Given the description of an element on the screen output the (x, y) to click on. 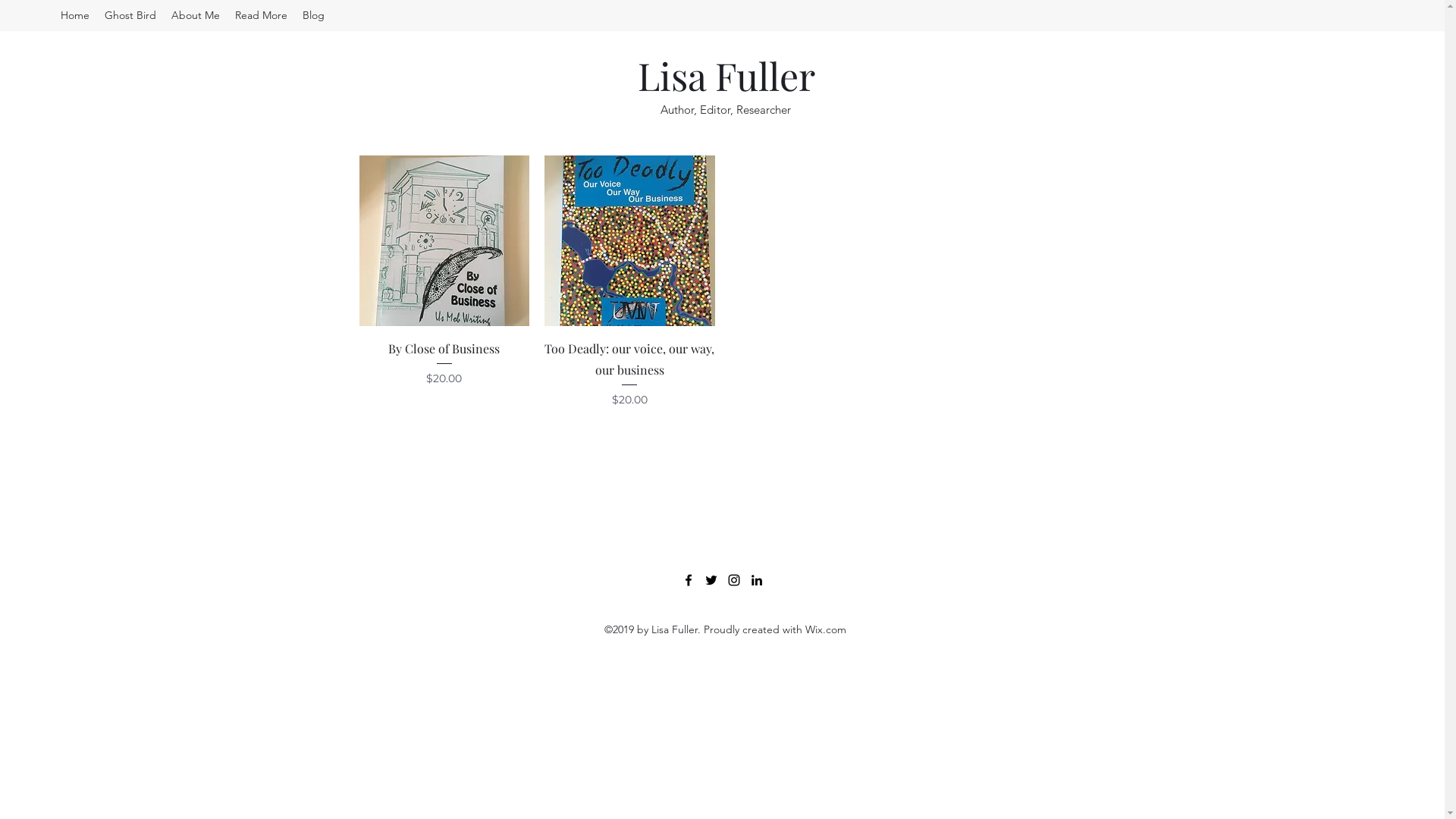
About Me Element type: text (195, 15)
Home Element type: text (75, 15)
Read More Element type: text (260, 15)
Ghost Bird Element type: text (130, 15)
Too Deadly: our voice, our way, our business
Price
$20.00 Element type: text (629, 373)
Lisa Fuller Element type: text (726, 75)
By Close of Business
Price
$20.00 Element type: text (444, 373)
Blog Element type: text (313, 15)
